Given the description of an element on the screen output the (x, y) to click on. 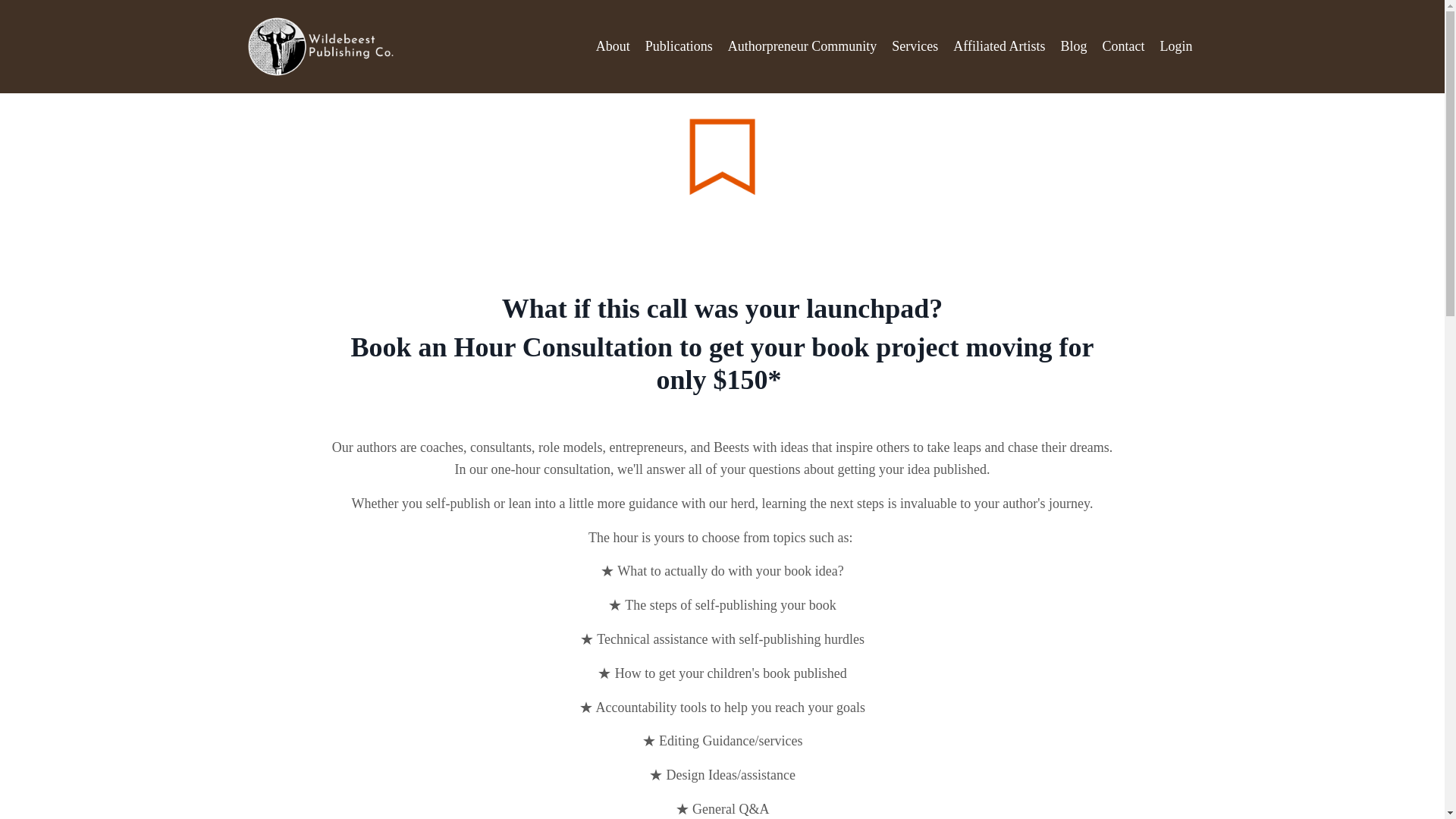
Services (914, 46)
Publications (679, 46)
Blog (1072, 46)
Affiliated Artists (999, 46)
Contact (1123, 46)
Login (1176, 46)
About (612, 46)
Authorpreneur Community (802, 46)
